Given the description of an element on the screen output the (x, y) to click on. 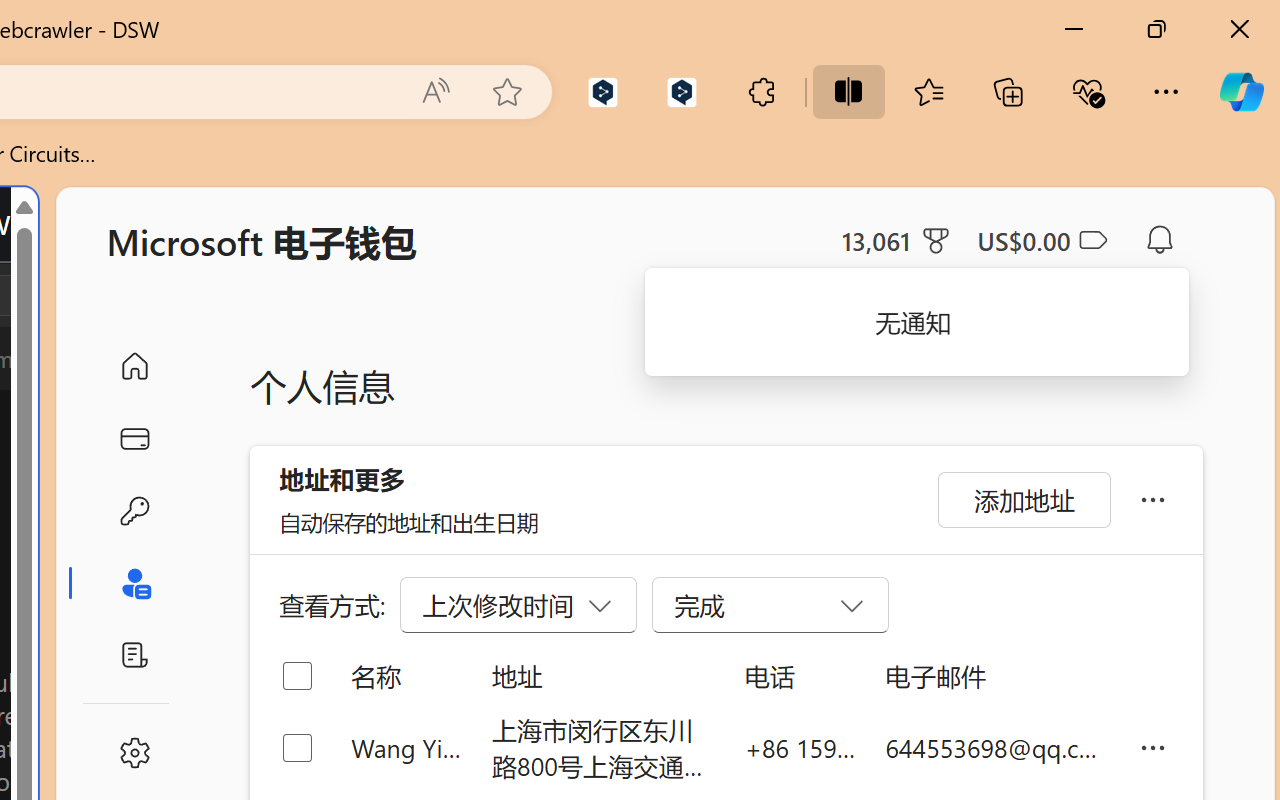
Microsoft Cashback - US$0.00 (1041, 240)
+86 159 0032 4640 (799, 747)
